Given the description of an element on the screen output the (x, y) to click on. 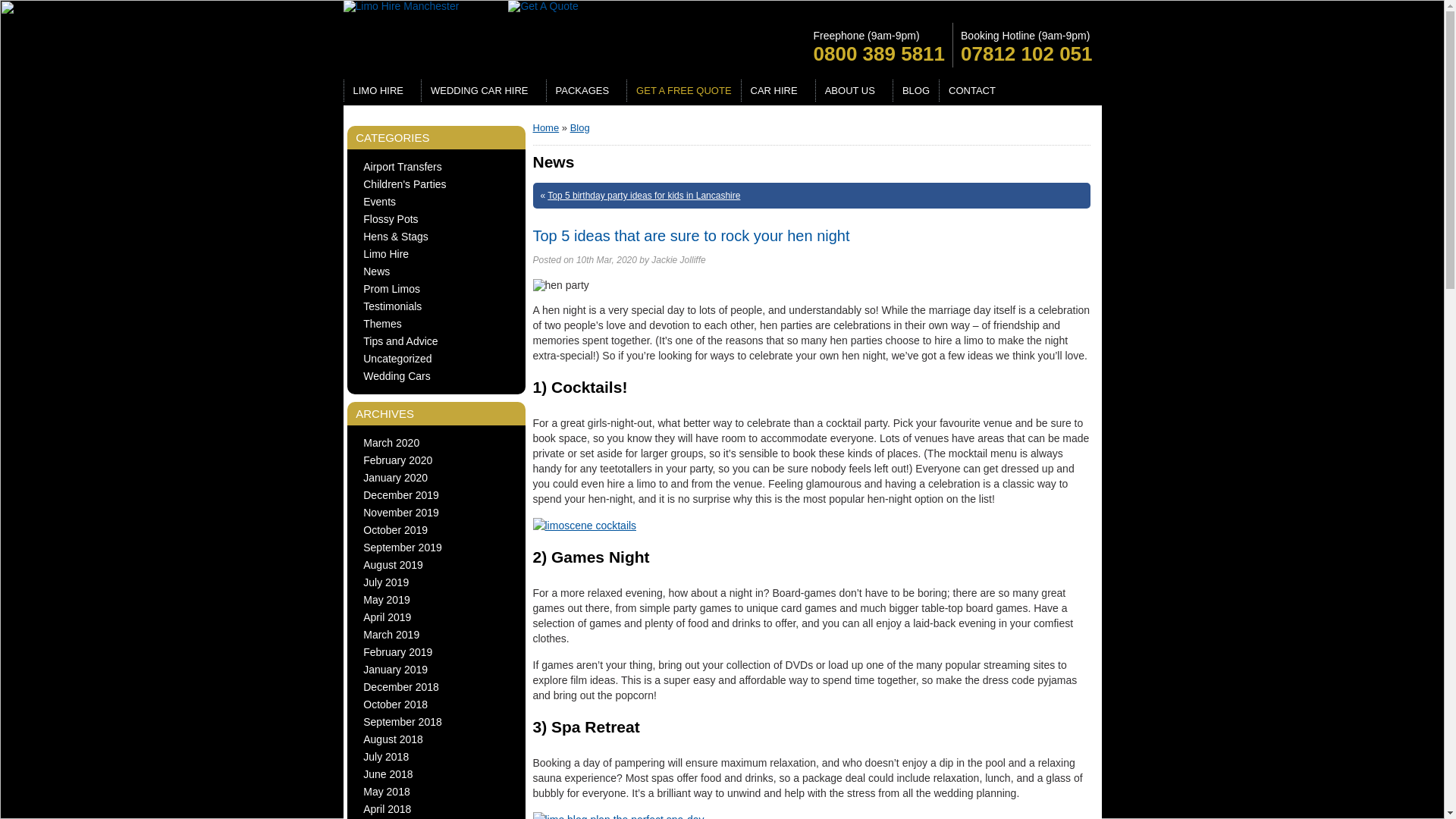
LIMO HIRE (381, 90)
